Given the description of an element on the screen output the (x, y) to click on. 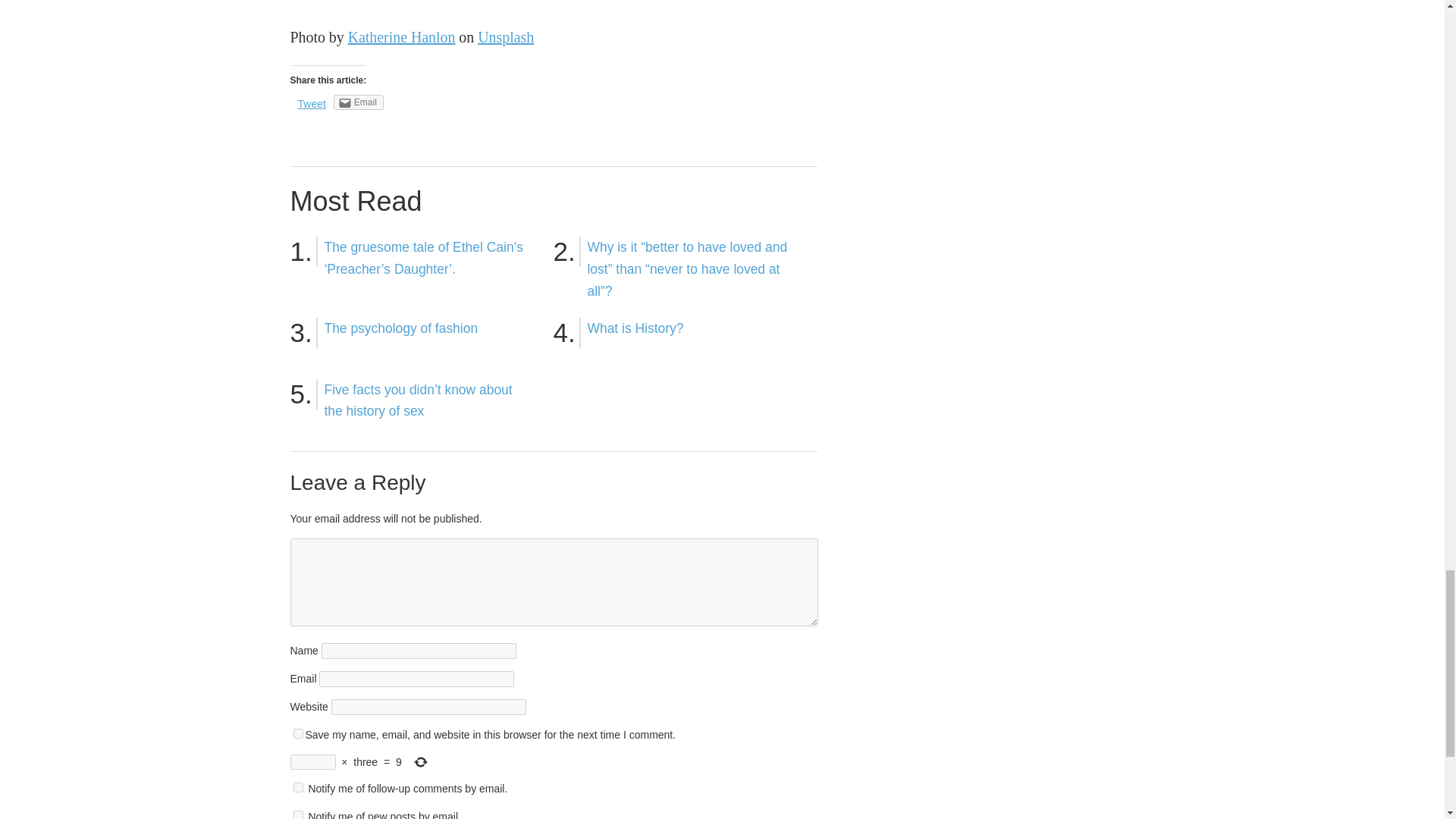
Email (358, 102)
yes (297, 733)
Tweet (310, 103)
What is History? (634, 328)
The psychology of fashion (401, 328)
subscribe (297, 787)
Katherine Hanlon (401, 36)
subscribe (297, 814)
What is History? (634, 328)
Unsplash (505, 36)
